Given the description of an element on the screen output the (x, y) to click on. 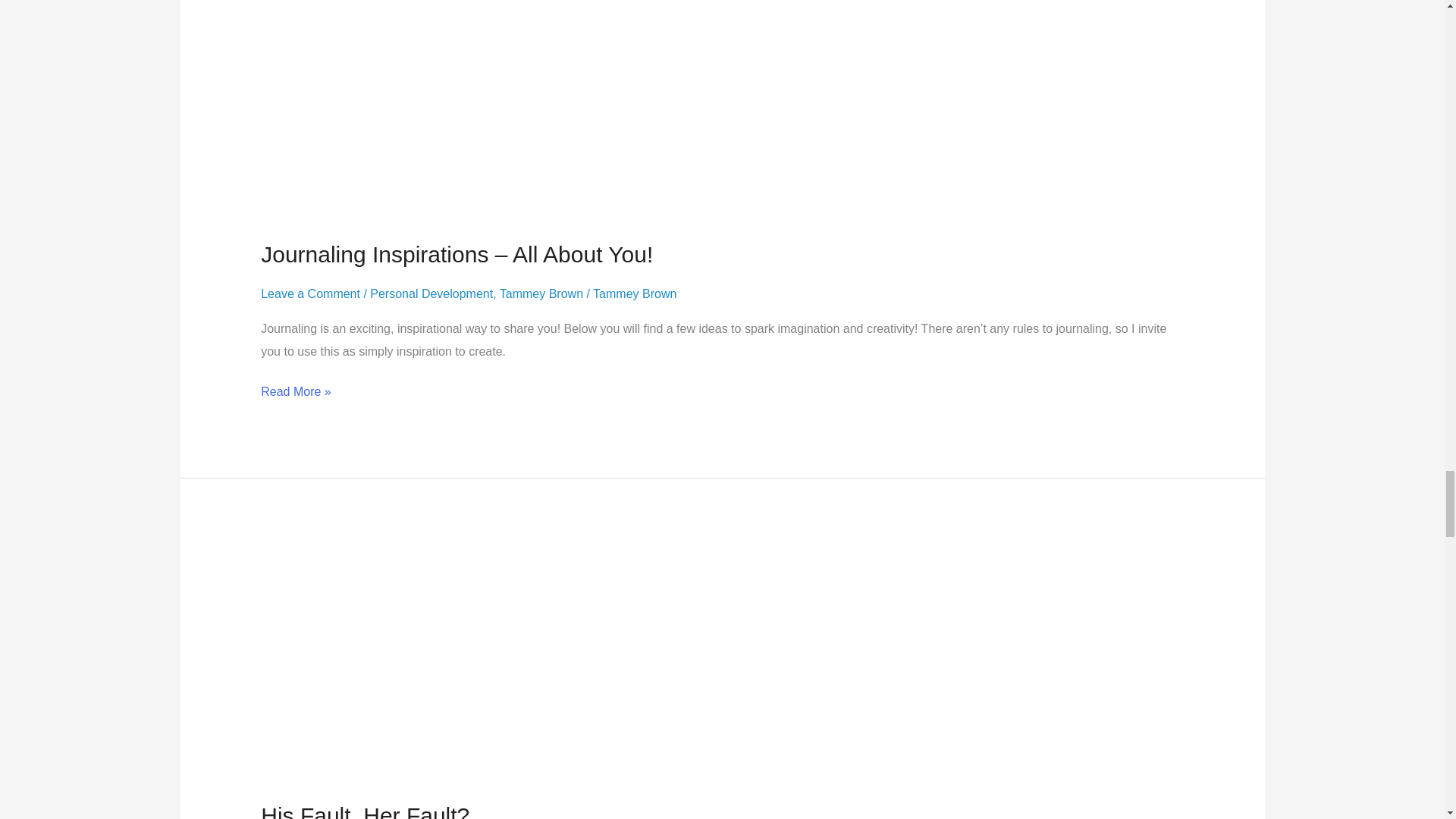
View all posts by Tammey Brown (634, 293)
